Given the description of an element on the screen output the (x, y) to click on. 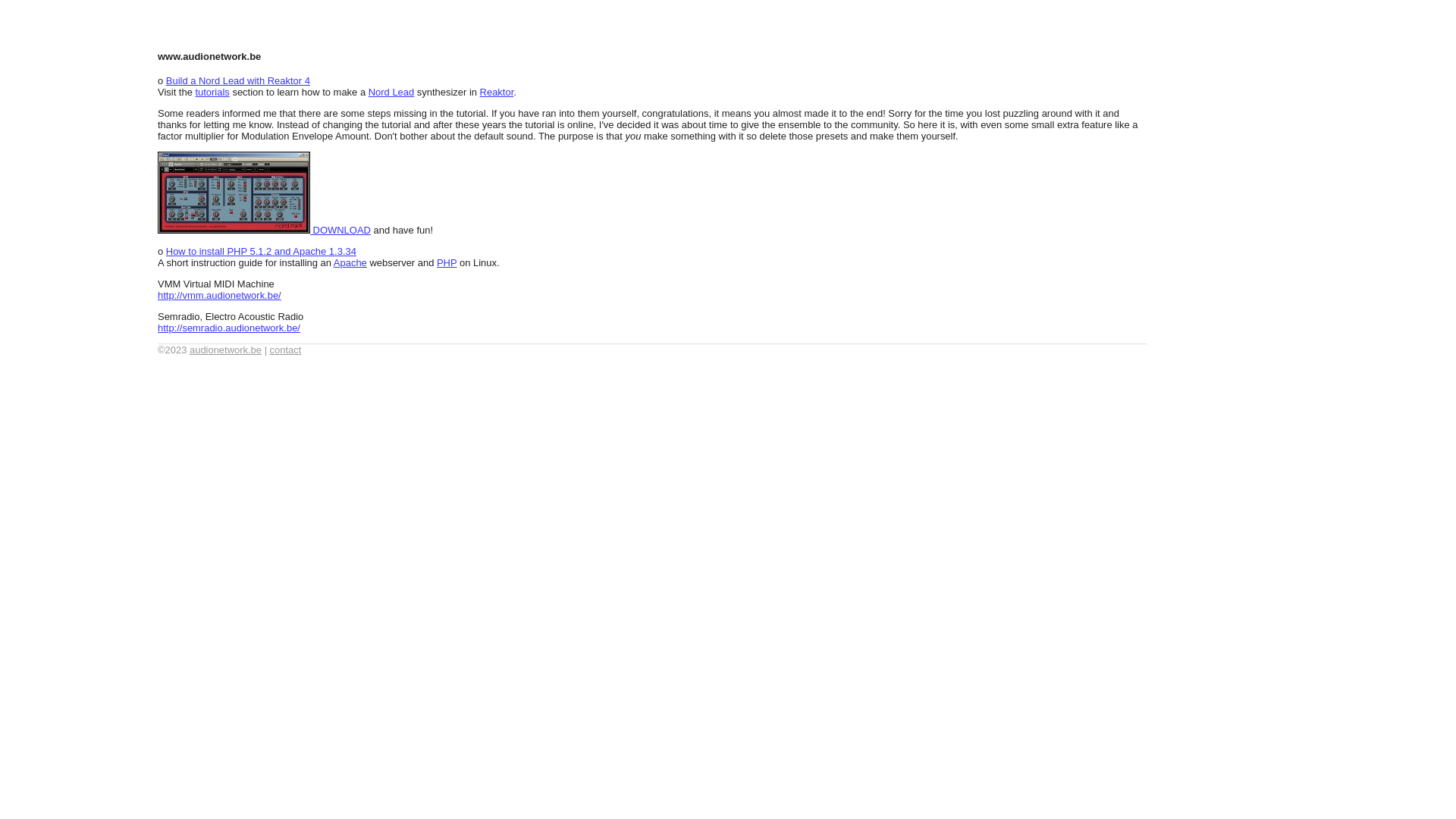
tutorials Element type: text (211, 91)
contact Element type: text (285, 349)
http://semradio.audionetwork.be/ Element type: text (228, 327)
Nord Lead Element type: text (391, 91)
Apache Element type: text (350, 262)
How to install PHP 5.1.2 and Apache 1.3.34 Element type: text (261, 251)
Build a Nord Lead with Reaktor 4 Element type: text (238, 80)
http://vmm.audionetwork.be/ Element type: text (219, 295)
PHP Element type: text (446, 262)
audionetwork.be Element type: text (225, 349)
Reaktor Element type: text (497, 91)
DOWNLOAD Element type: text (263, 229)
